Given the description of an element on the screen output the (x, y) to click on. 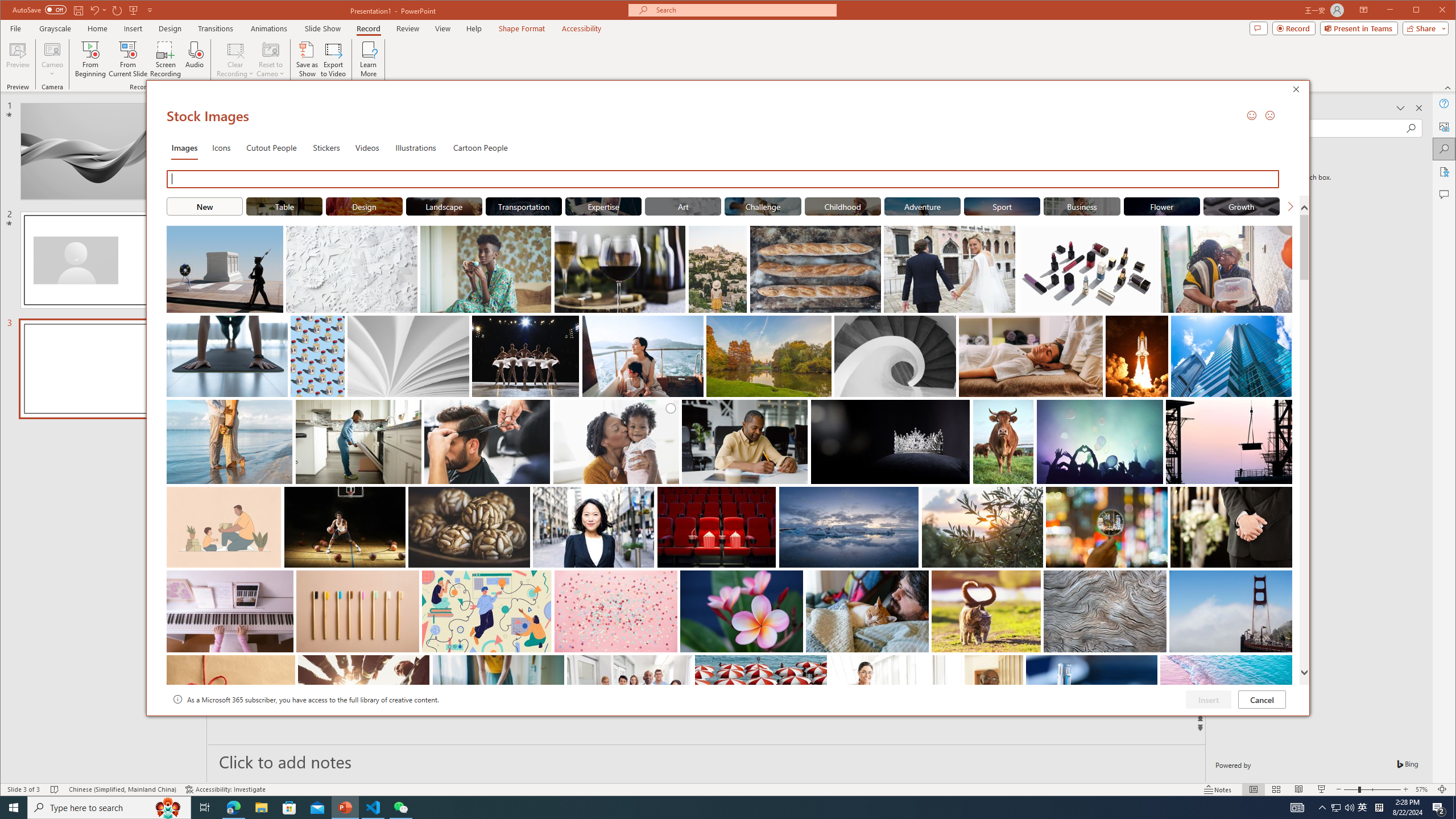
Cartoon People (479, 147)
Save as Show (307, 59)
